Given the description of an element on the screen output the (x, y) to click on. 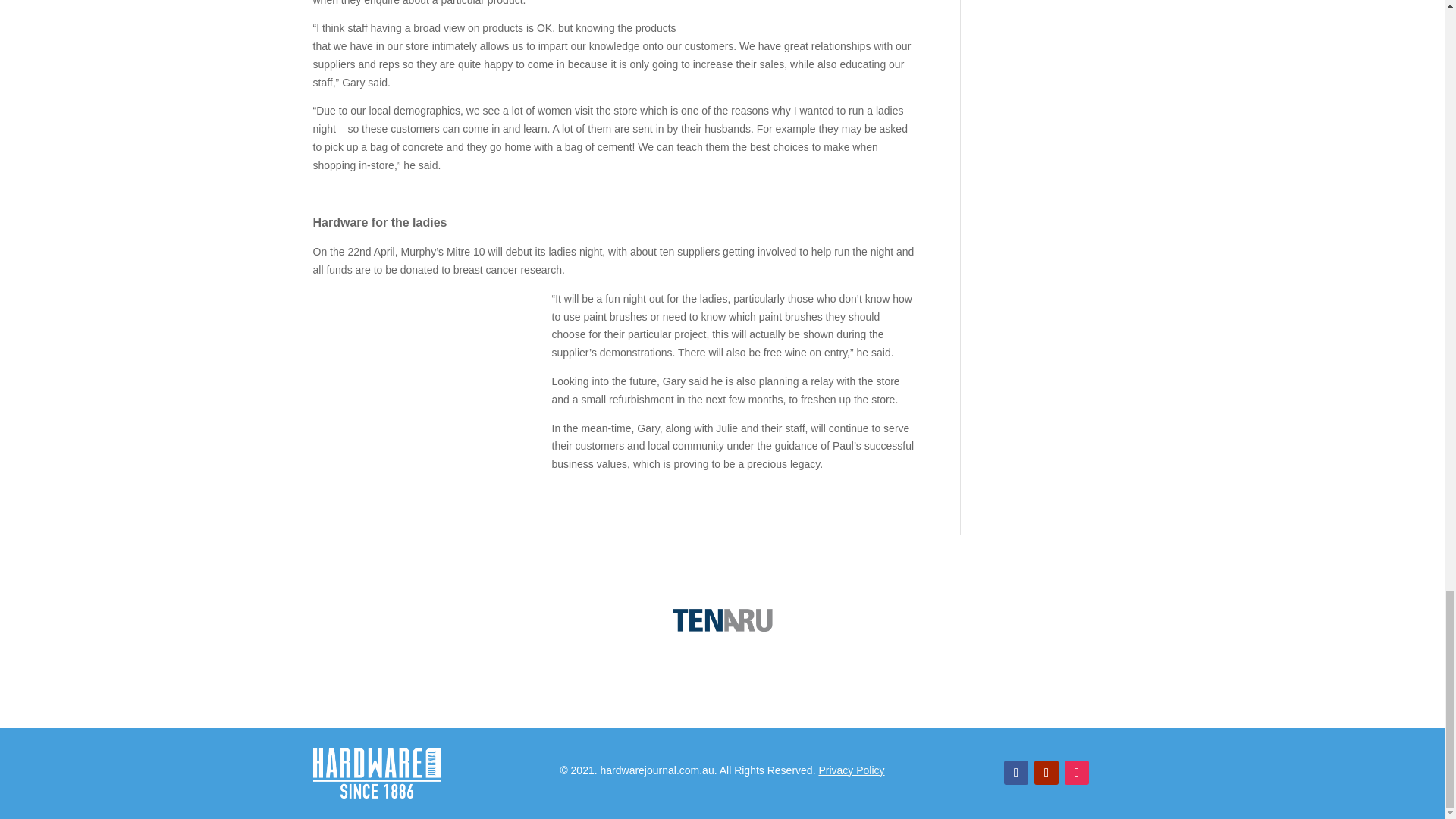
Hardware Journal Logo (376, 773)
Follow on Facebook (1015, 772)
Follow on Youtube (1045, 772)
Follow on Instagram (1076, 772)
Privacy Policy (850, 770)
